Given the description of an element on the screen output the (x, y) to click on. 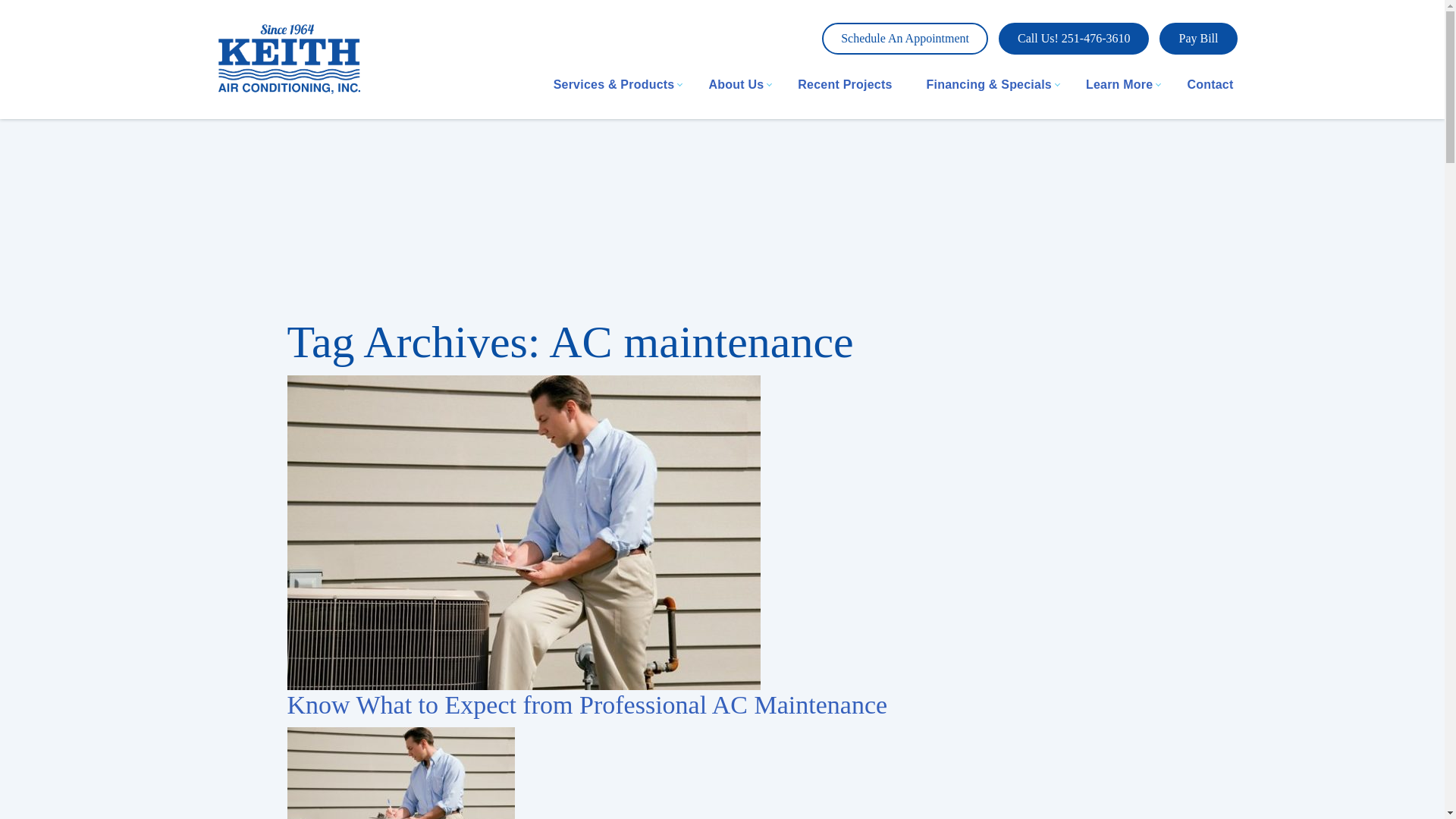
About Us (734, 83)
Schedule An Appointment (905, 38)
Contact (1209, 83)
Keith Air Conditioning (288, 56)
About Us (734, 83)
Keith Air Conditioning (288, 58)
Recent Projects (844, 83)
Pay Bill (1197, 38)
Know What to Expect from Professional AC Maintenance (586, 705)
Call Us (1073, 38)
